Given the description of an element on the screen output the (x, y) to click on. 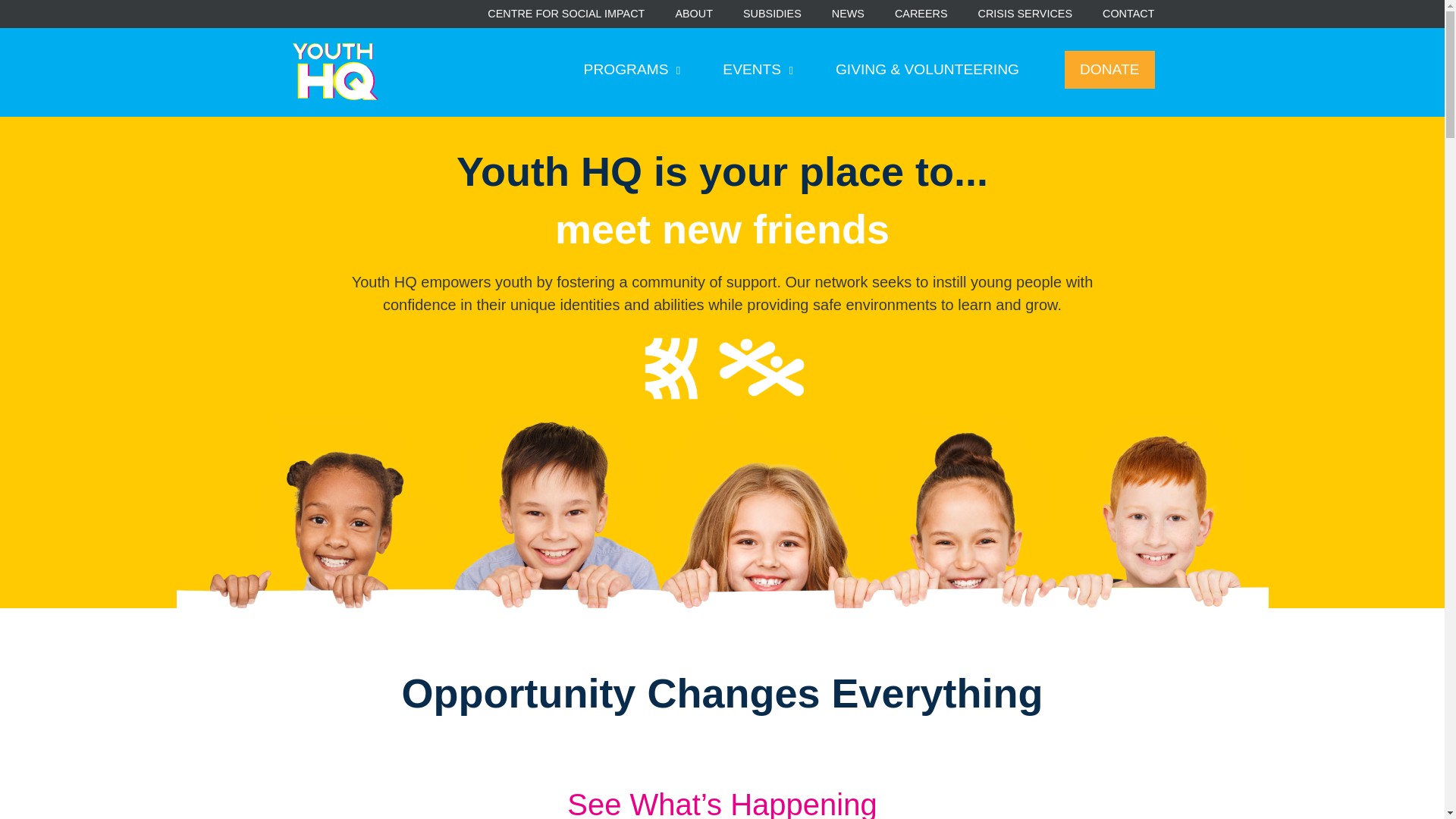
ABOUT (694, 13)
CENTRE FOR SOCIAL IMPACT (566, 13)
CRISIS SERVICES (1025, 13)
CAREERS (921, 13)
PROGRAMS (632, 69)
SUBSIDIES (772, 13)
CONTACT (1128, 13)
EVENTS (757, 69)
DONATE (1109, 69)
NEWS (847, 13)
